Given the description of an element on the screen output the (x, y) to click on. 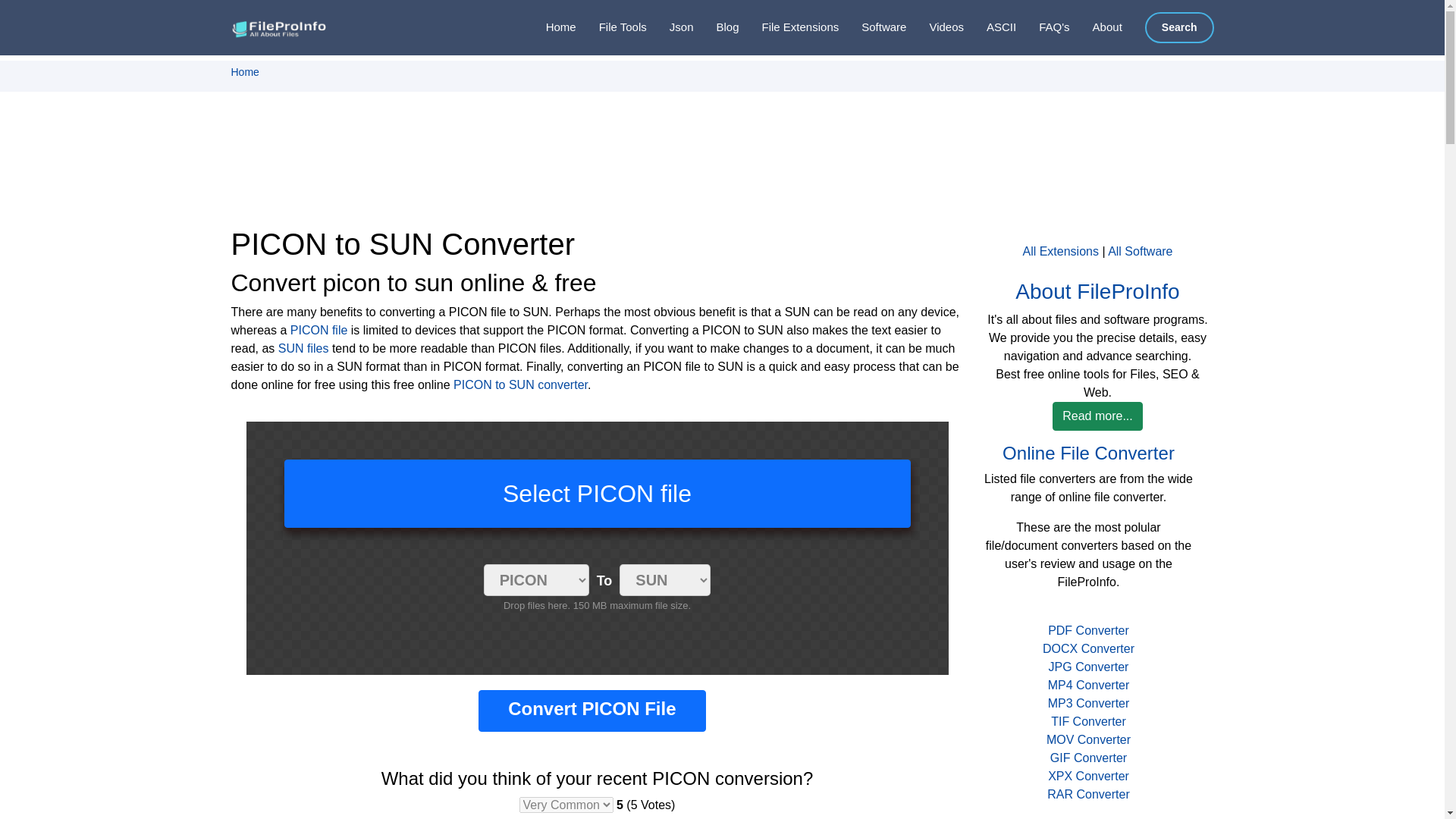
File Tools (611, 27)
Software (871, 27)
Json (670, 27)
Search (1179, 27)
Home (549, 27)
FileProInfo.com (280, 26)
Search (1179, 27)
PICON to SUN converter (520, 384)
Convert PICON File (592, 711)
Software program list (871, 27)
File Tools (611, 27)
FileProInfo tech blog (715, 27)
ASCII (989, 27)
About (1096, 27)
About (1096, 27)
